Given the description of an element on the screen output the (x, y) to click on. 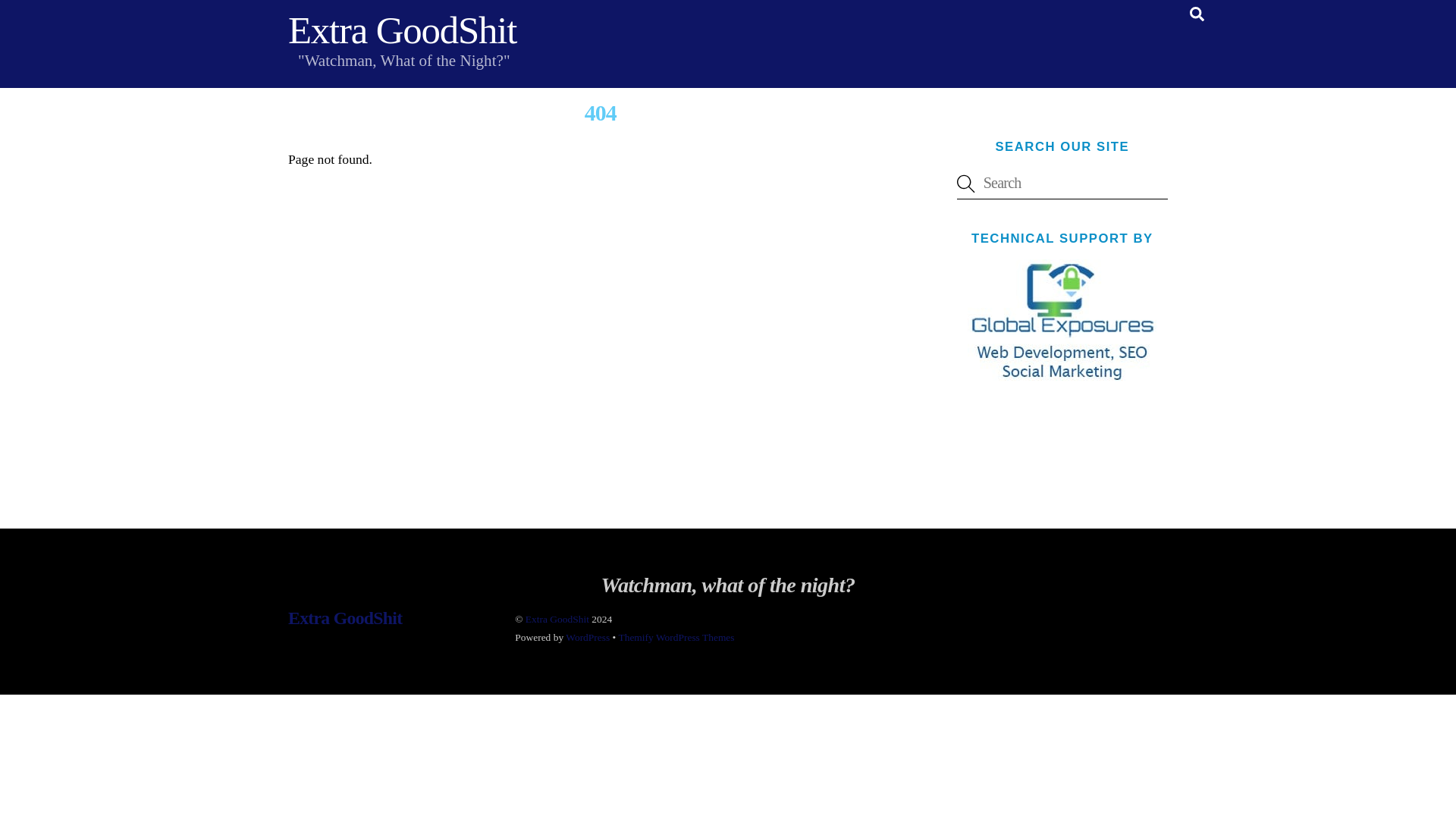
Search (1196, 14)
Extra GoodShit (344, 618)
WordPress (588, 636)
Extra GoodShit (402, 30)
Extra GoodShit (344, 618)
Themify WordPress Themes (675, 636)
Search (1061, 183)
Extra GoodShit (402, 30)
Extra GoodShit (557, 618)
